Given the description of an element on the screen output the (x, y) to click on. 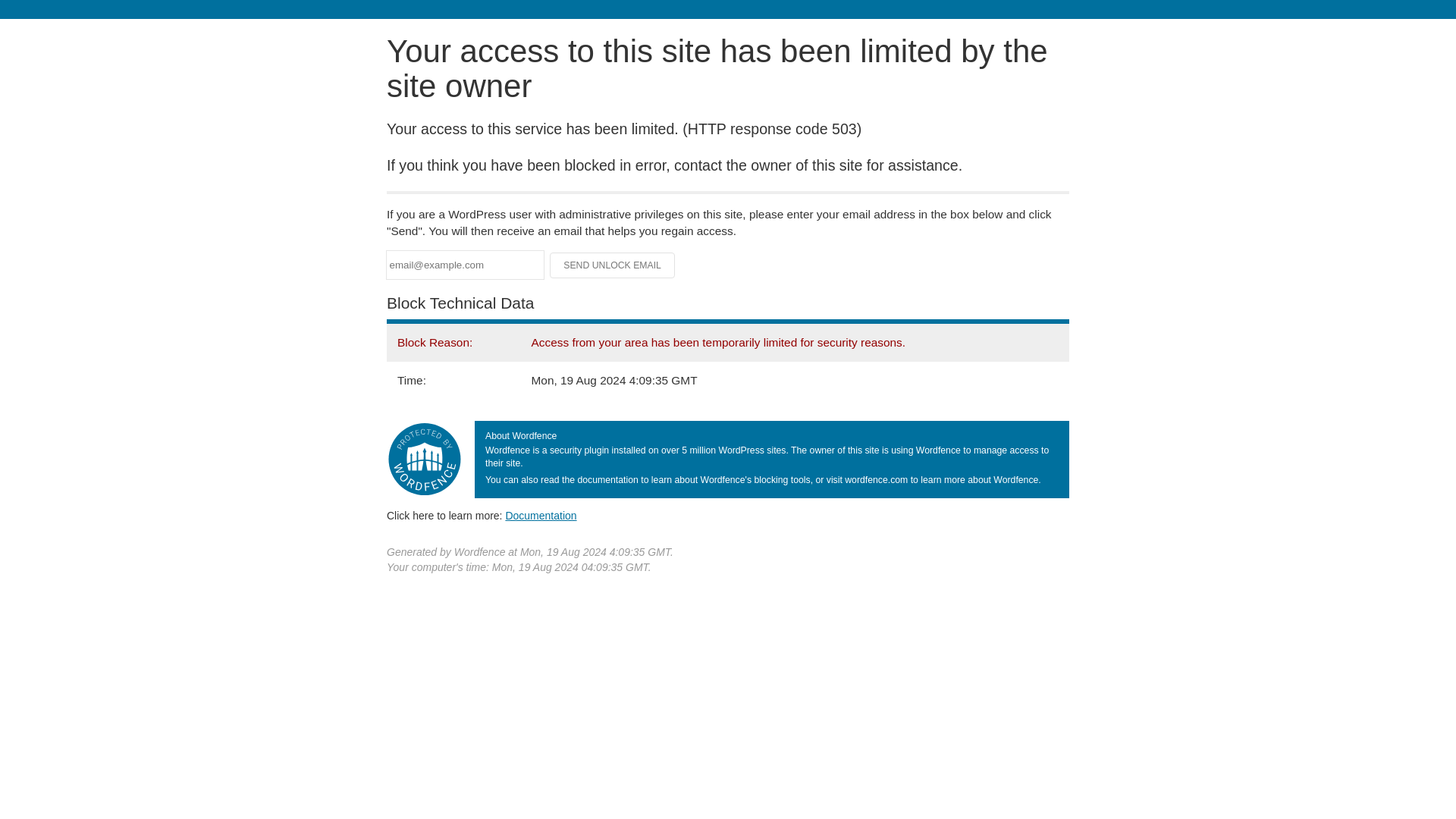
Send Unlock Email (612, 265)
Documentation (540, 515)
Send Unlock Email (612, 265)
